Given the description of an element on the screen output the (x, y) to click on. 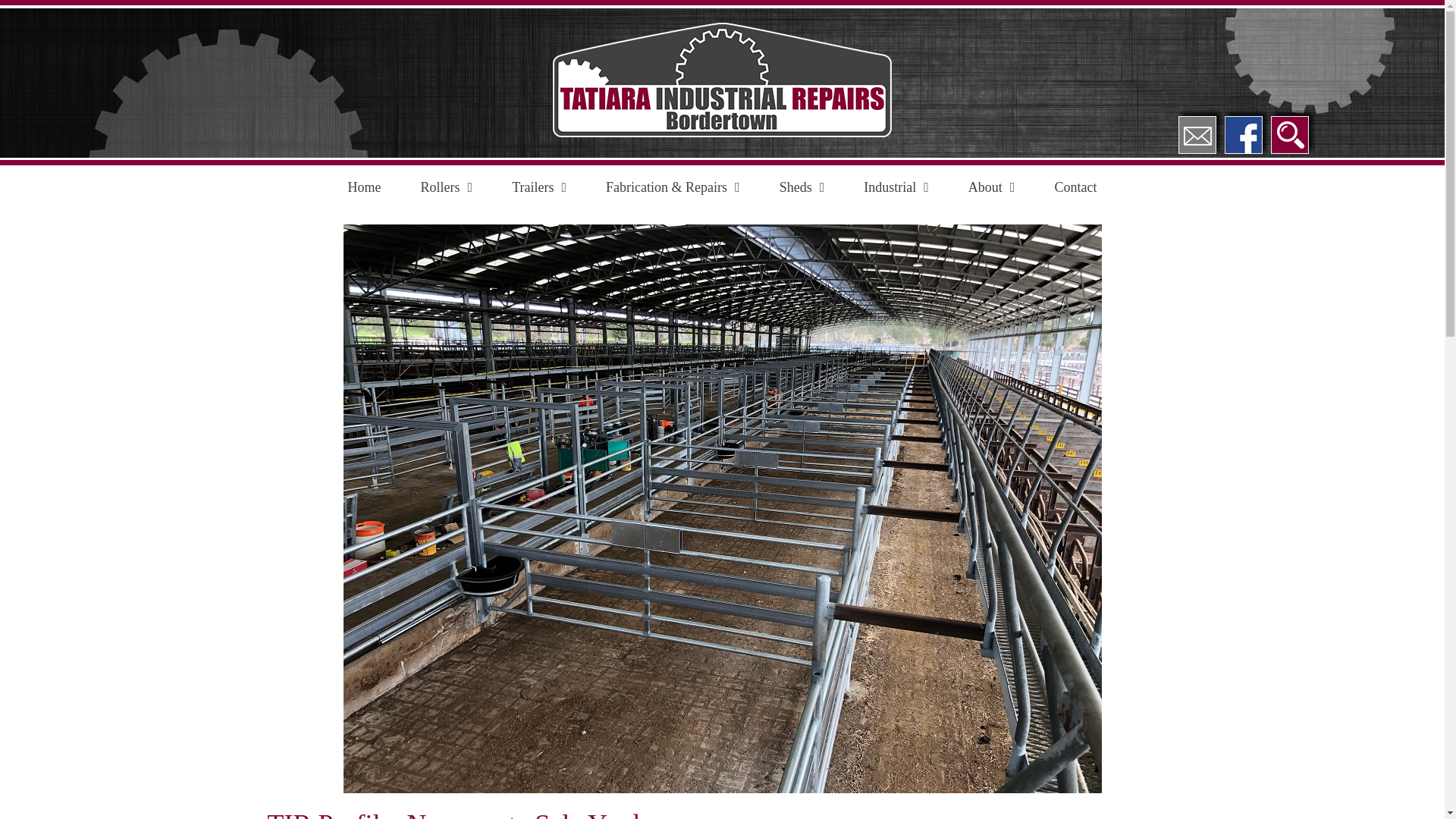
Industrial (896, 187)
Trailers (539, 187)
Sheds (802, 187)
Rollers (447, 187)
Home (364, 187)
